Given the description of an element on the screen output the (x, y) to click on. 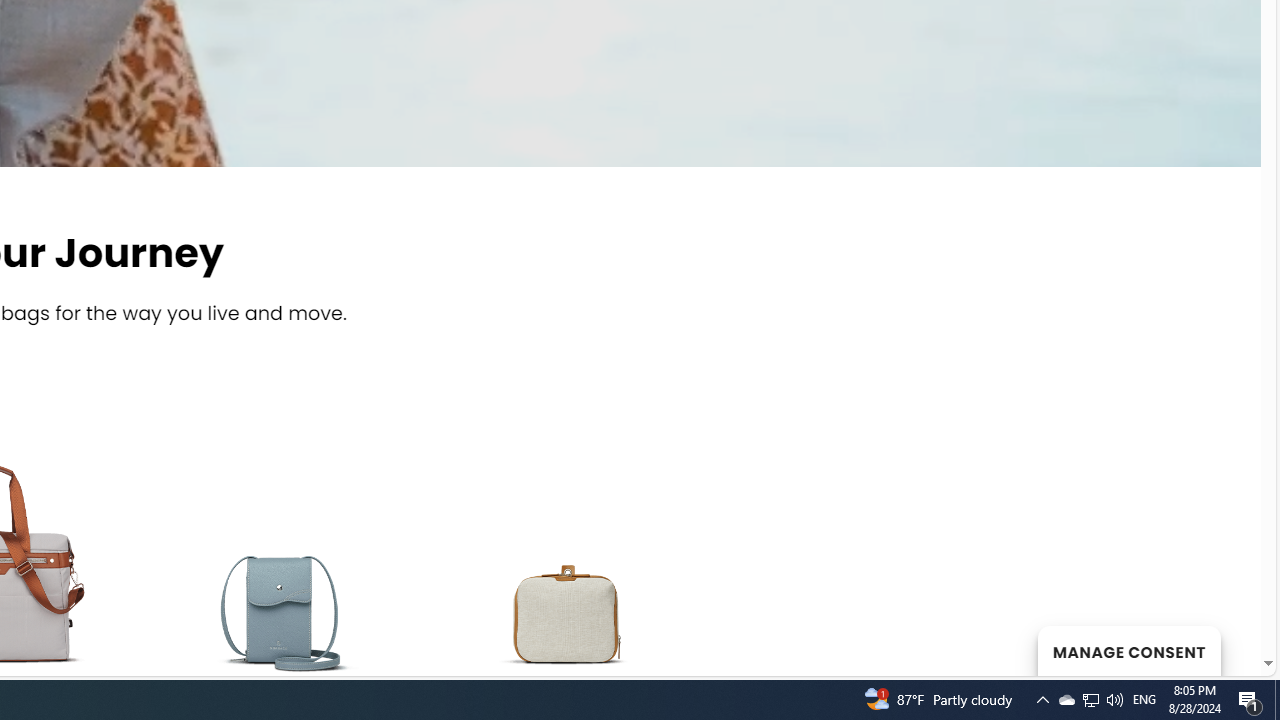
MANAGE CONSENT (1128, 650)
